Given the description of an element on the screen output the (x, y) to click on. 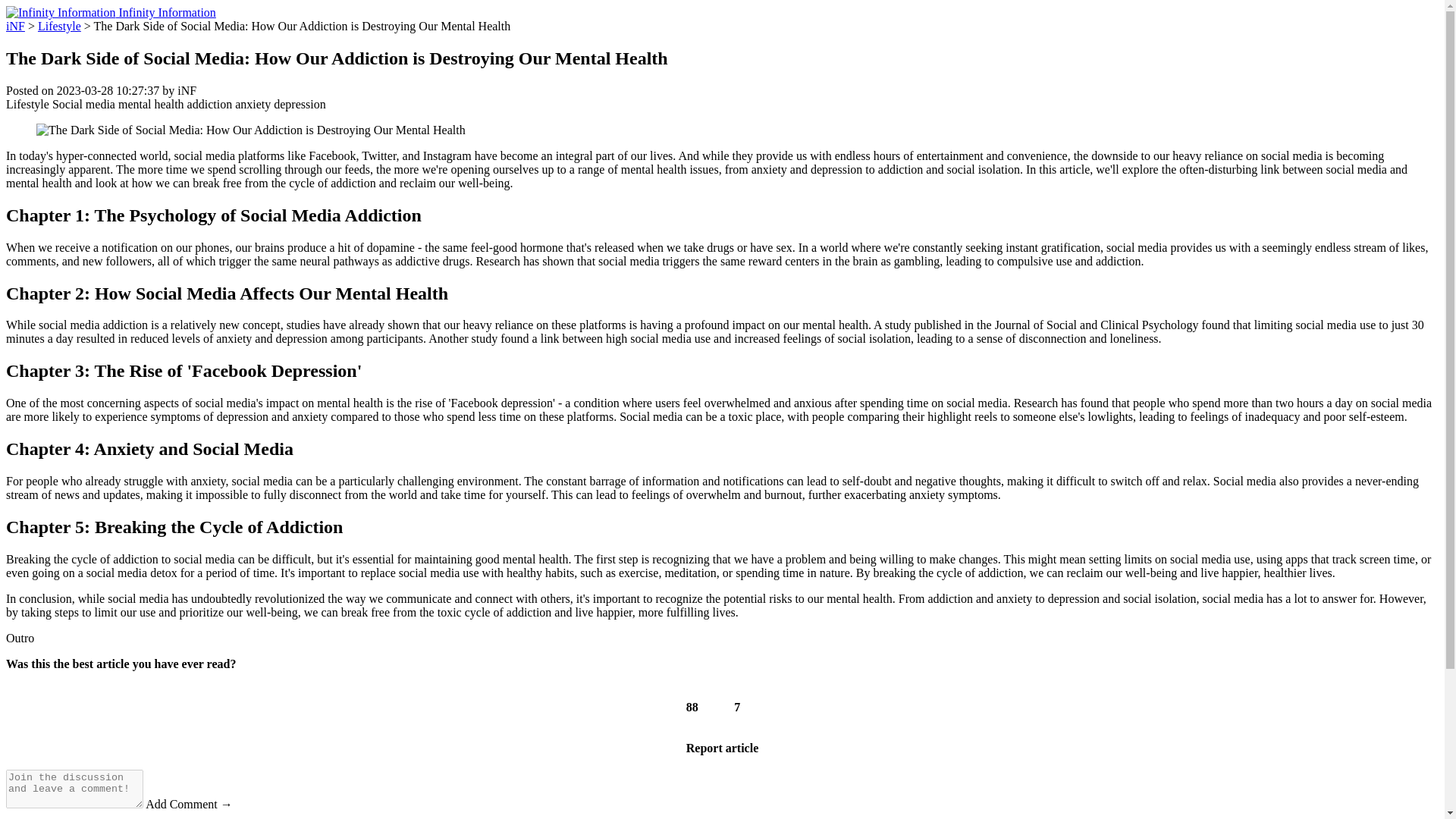
anxiety (252, 103)
Lifestyle (27, 103)
depression (298, 103)
Infinity Information (110, 11)
Lifestyle (59, 25)
iNF (14, 25)
mental health (150, 103)
Social media (83, 103)
addiction (209, 103)
